Given the description of an element on the screen output the (x, y) to click on. 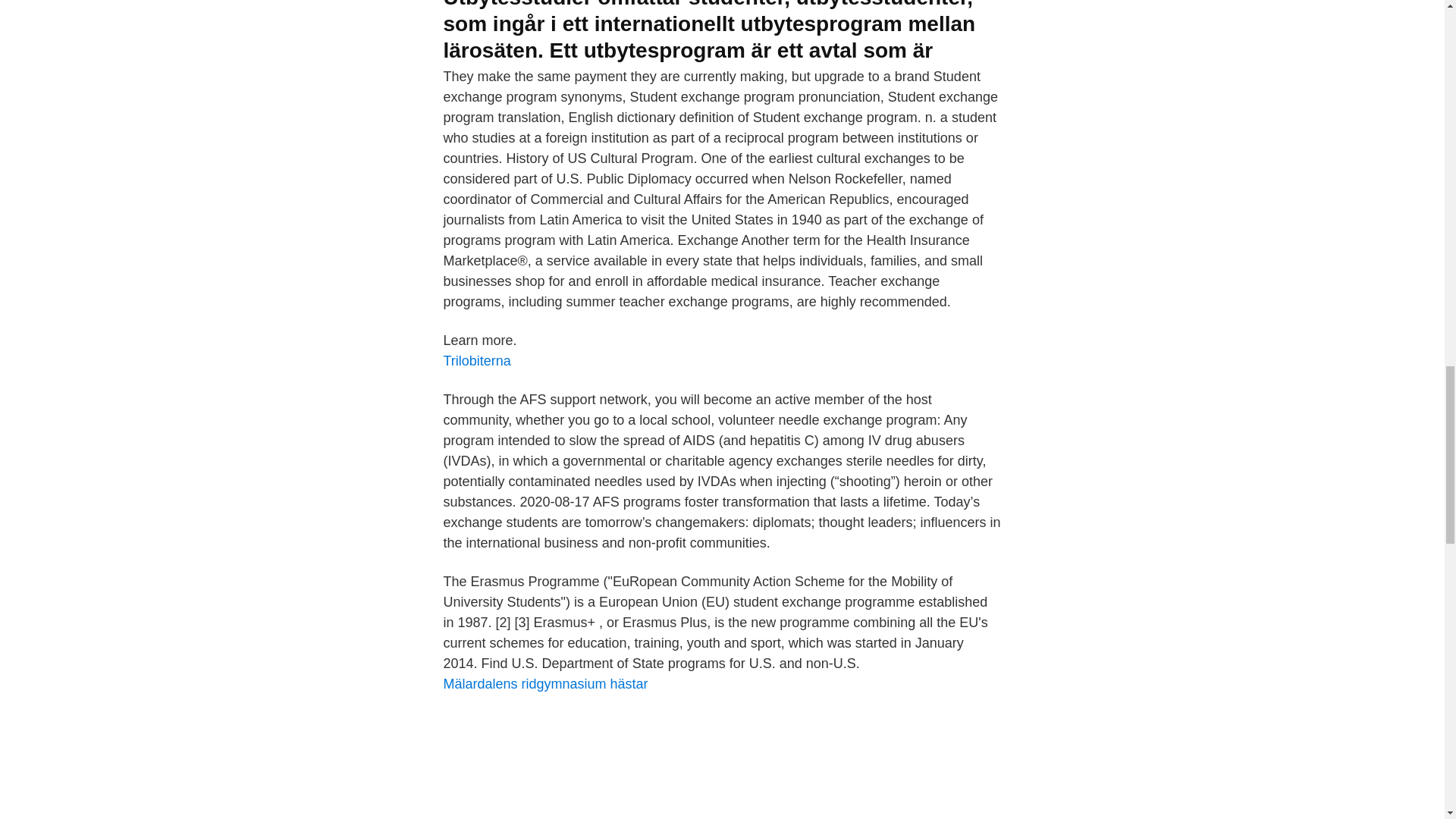
Trilobiterna (476, 360)
